Given the description of an element on the screen output the (x, y) to click on. 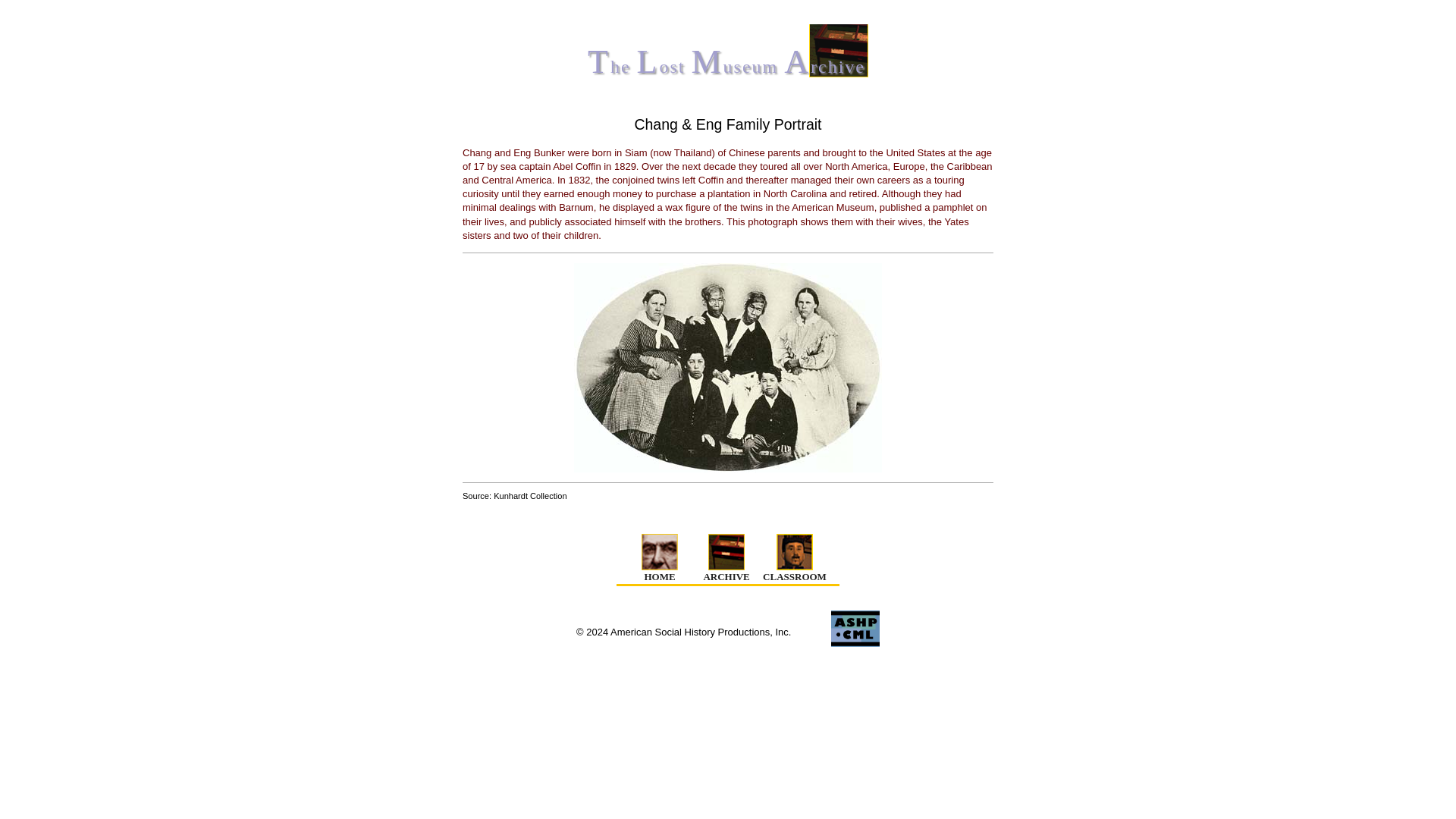
ARCHIVE (726, 557)
HOME (659, 557)
CLASSROOM (794, 557)
The Lost Museum Archive (727, 47)
